Given the description of an element on the screen output the (x, y) to click on. 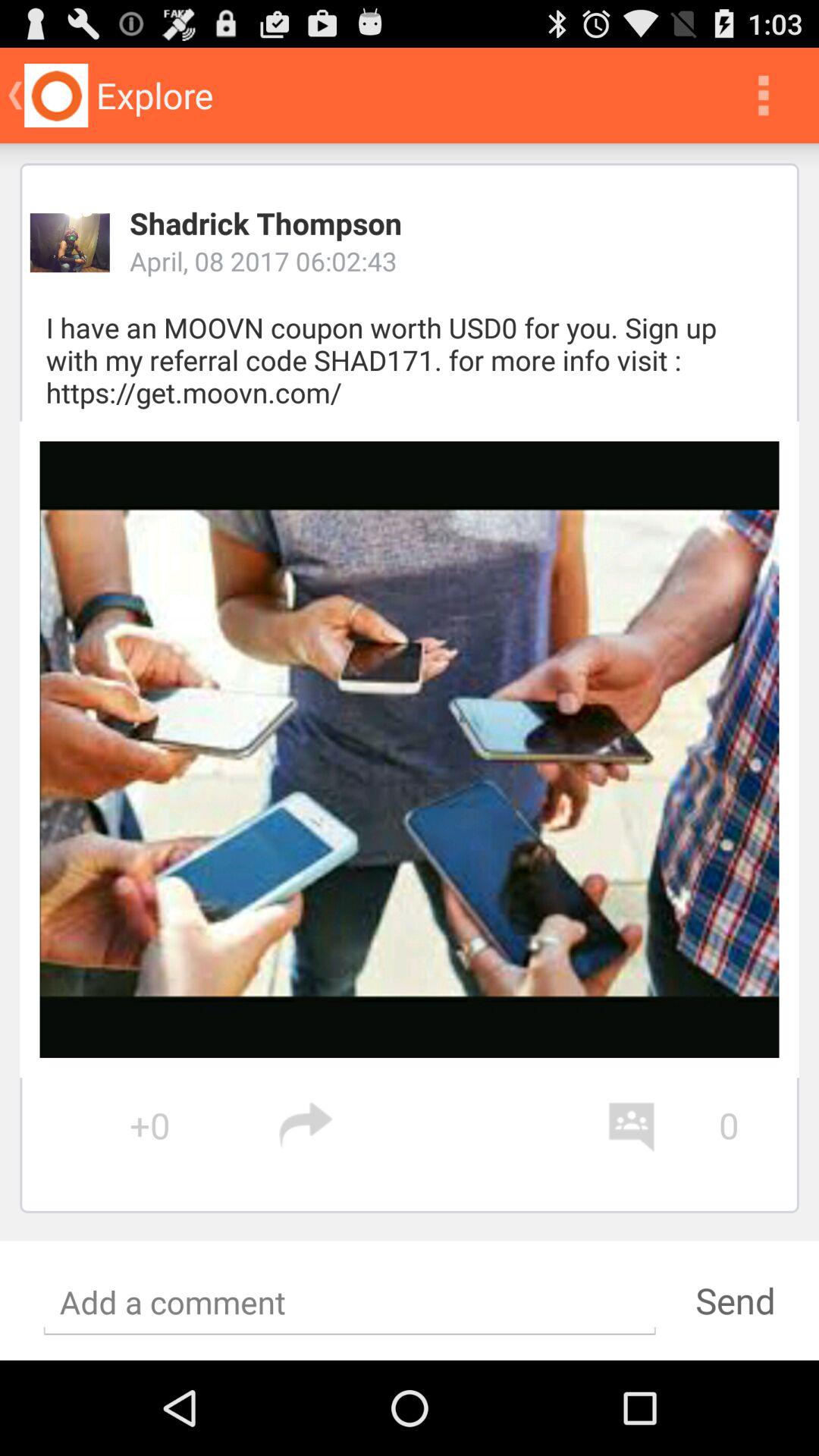
press item next to shadrick thompson item (69, 242)
